Given the description of an element on the screen output the (x, y) to click on. 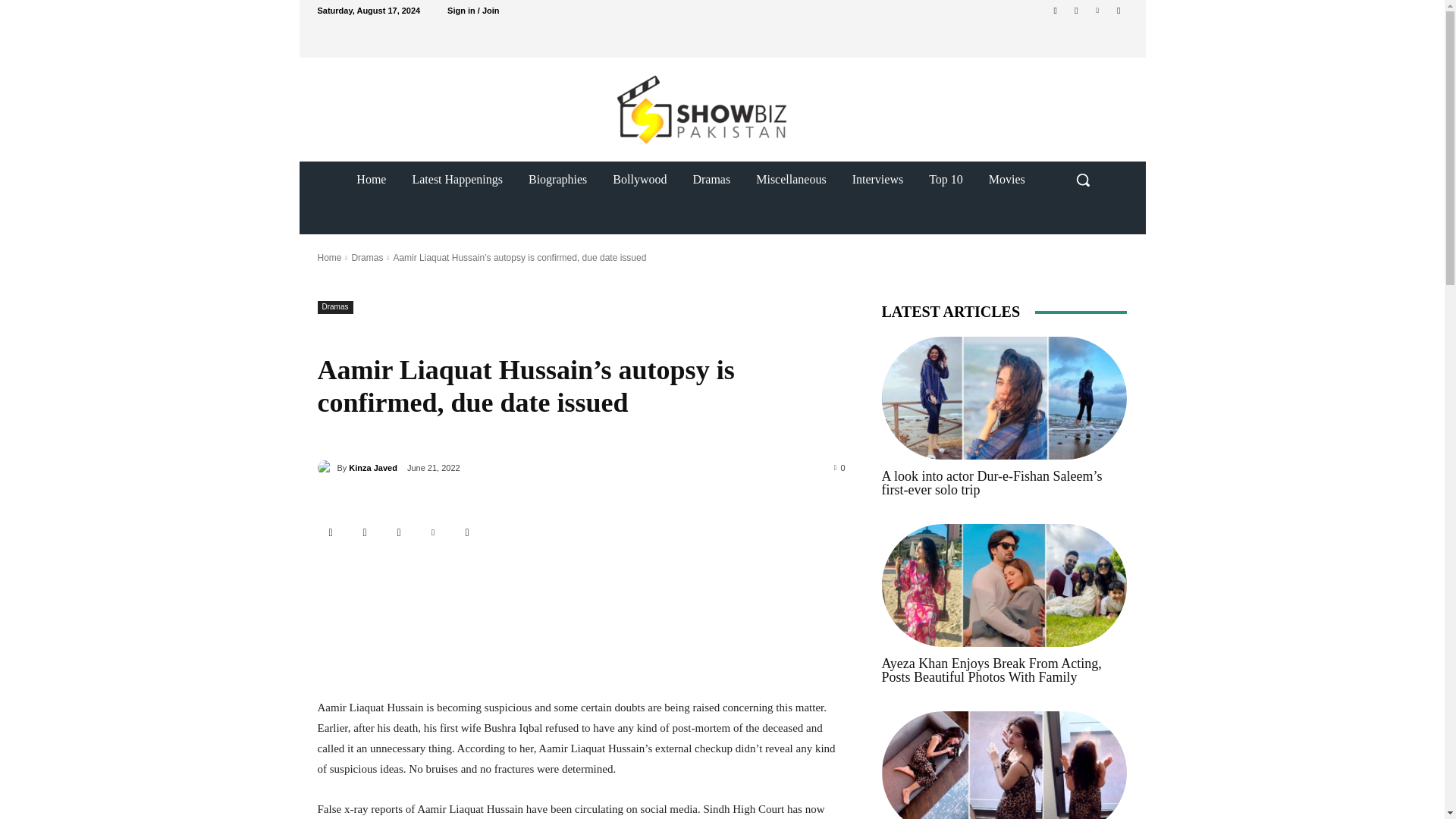
Bollywood (639, 179)
Miscellaneous (790, 179)
Instagram (398, 532)
Facebook (365, 532)
Latest Happenings (456, 179)
Biographies (557, 179)
Home (370, 179)
Home (328, 257)
Interviews (878, 179)
Instagram (1075, 9)
